Given the description of an element on the screen output the (x, y) to click on. 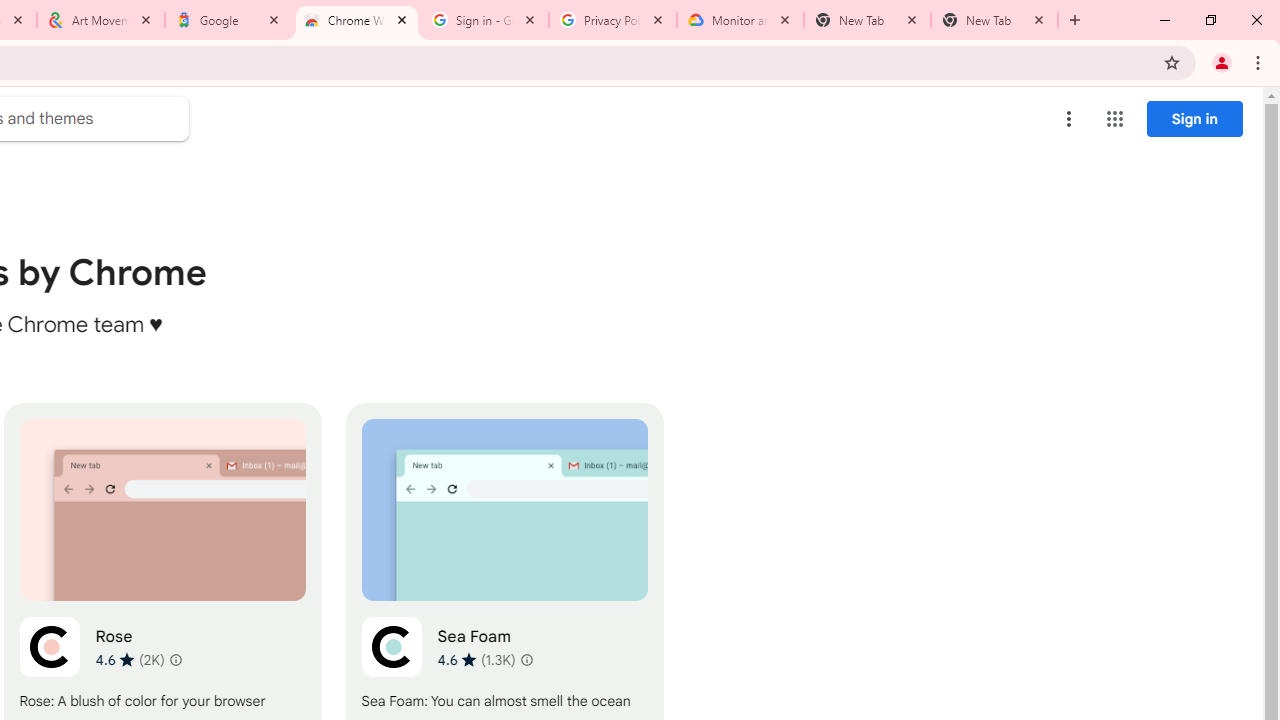
Google (229, 20)
Average rating 4.6 out of 5 stars. 2K ratings. (129, 659)
Learn more about results and reviews "Sea Foam" (526, 659)
Sign in - Google Accounts (485, 20)
New Tab (866, 20)
Learn more about results and reviews "Rose" (175, 659)
New Tab (994, 20)
